Given the description of an element on the screen output the (x, y) to click on. 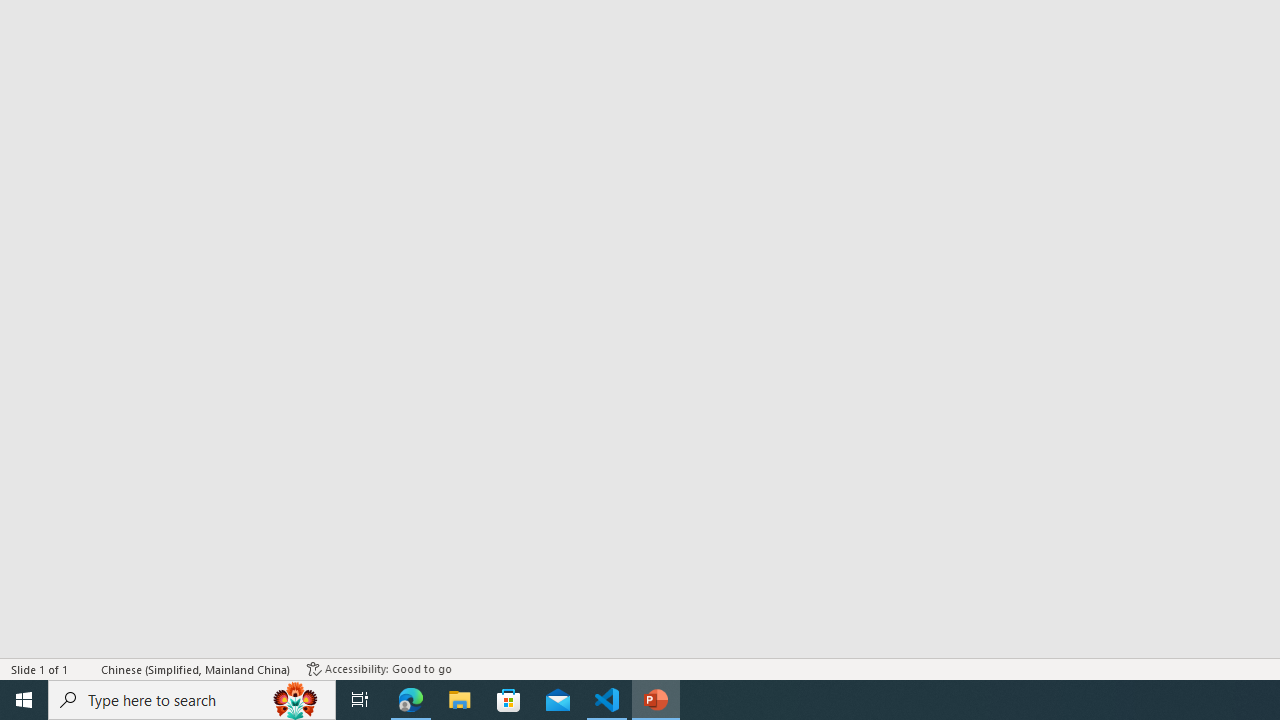
Spell Check  (86, 668)
Accessibility Checker Accessibility: Good to go (379, 668)
